Given the description of an element on the screen output the (x, y) to click on. 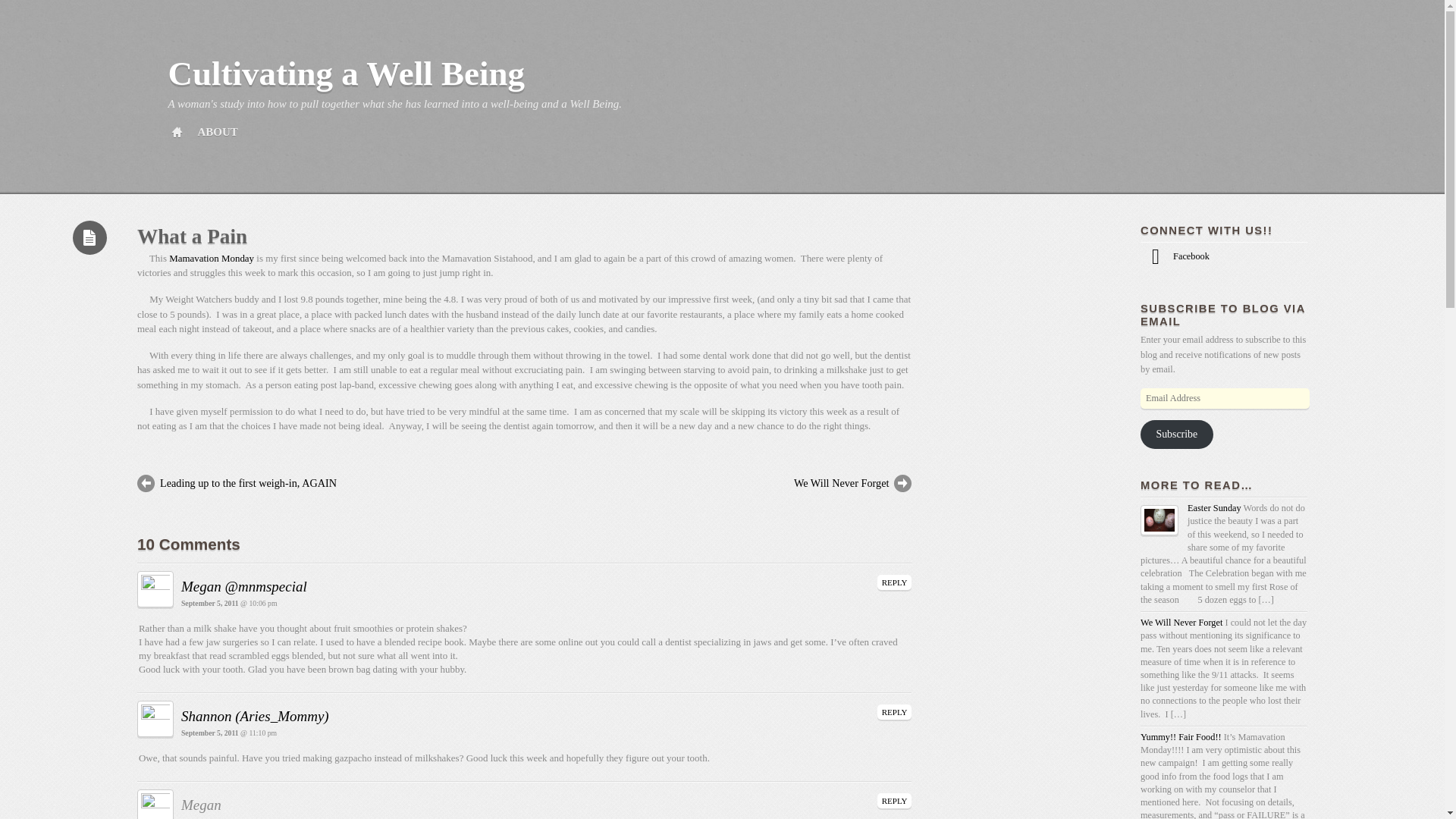
REPLY (894, 581)
HOME (176, 131)
What a Pain (191, 236)
Leading up to the first weigh-in, AGAIN (311, 483)
Subscribe (1176, 434)
Easter Sunday (1214, 507)
We Will Never Forget (737, 483)
We Will Never Forget (1181, 622)
REPLY (894, 711)
Facebook (1174, 255)
Yummy!! Fair Food!! (1180, 737)
Cultivating a Well Being (345, 73)
REPLY (894, 800)
Mamavation Monday (210, 257)
ABOUT (217, 131)
